Given the description of an element on the screen output the (x, y) to click on. 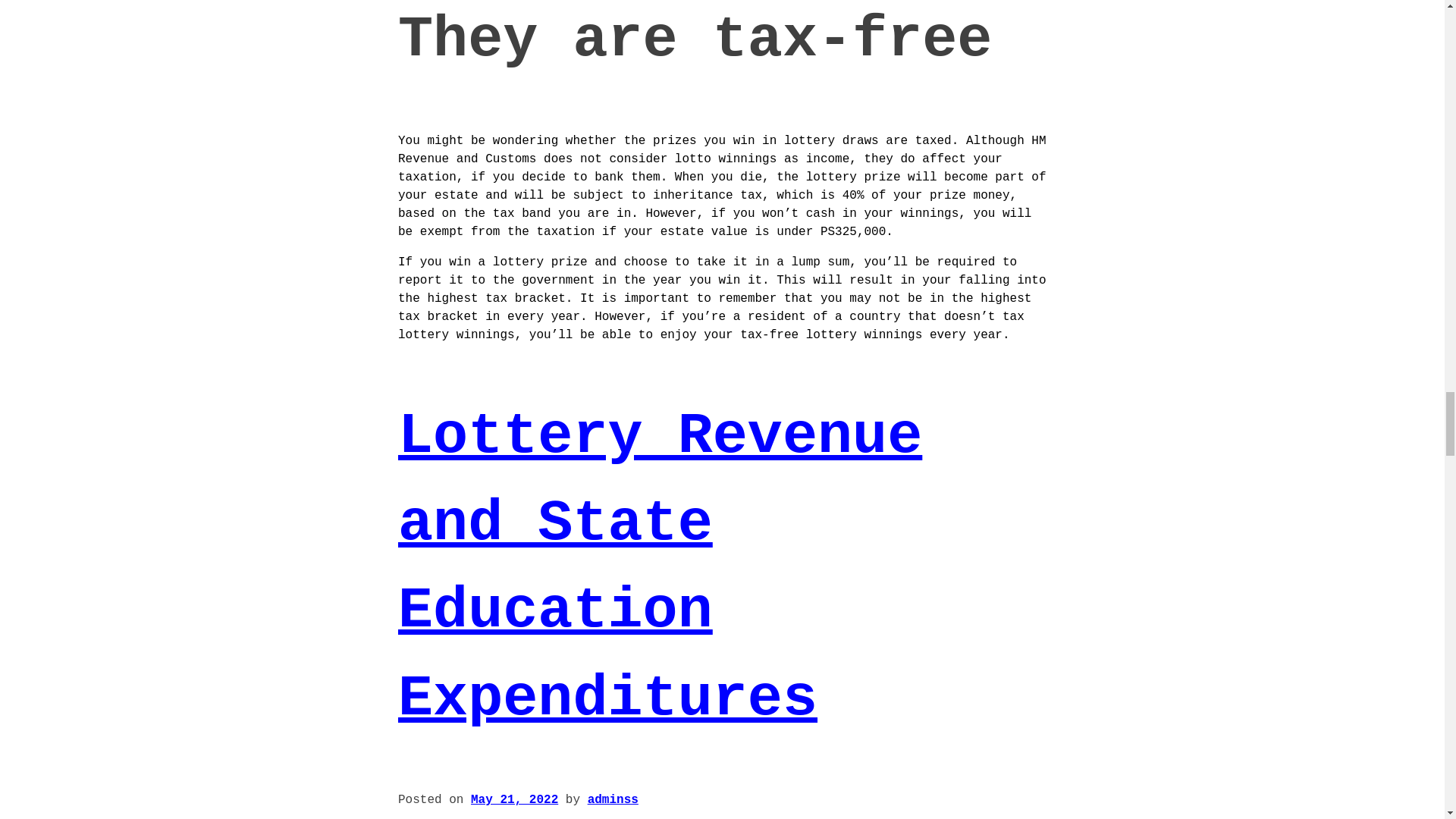
adminss (613, 799)
May 21, 2022 (513, 799)
